Given the description of an element on the screen output the (x, y) to click on. 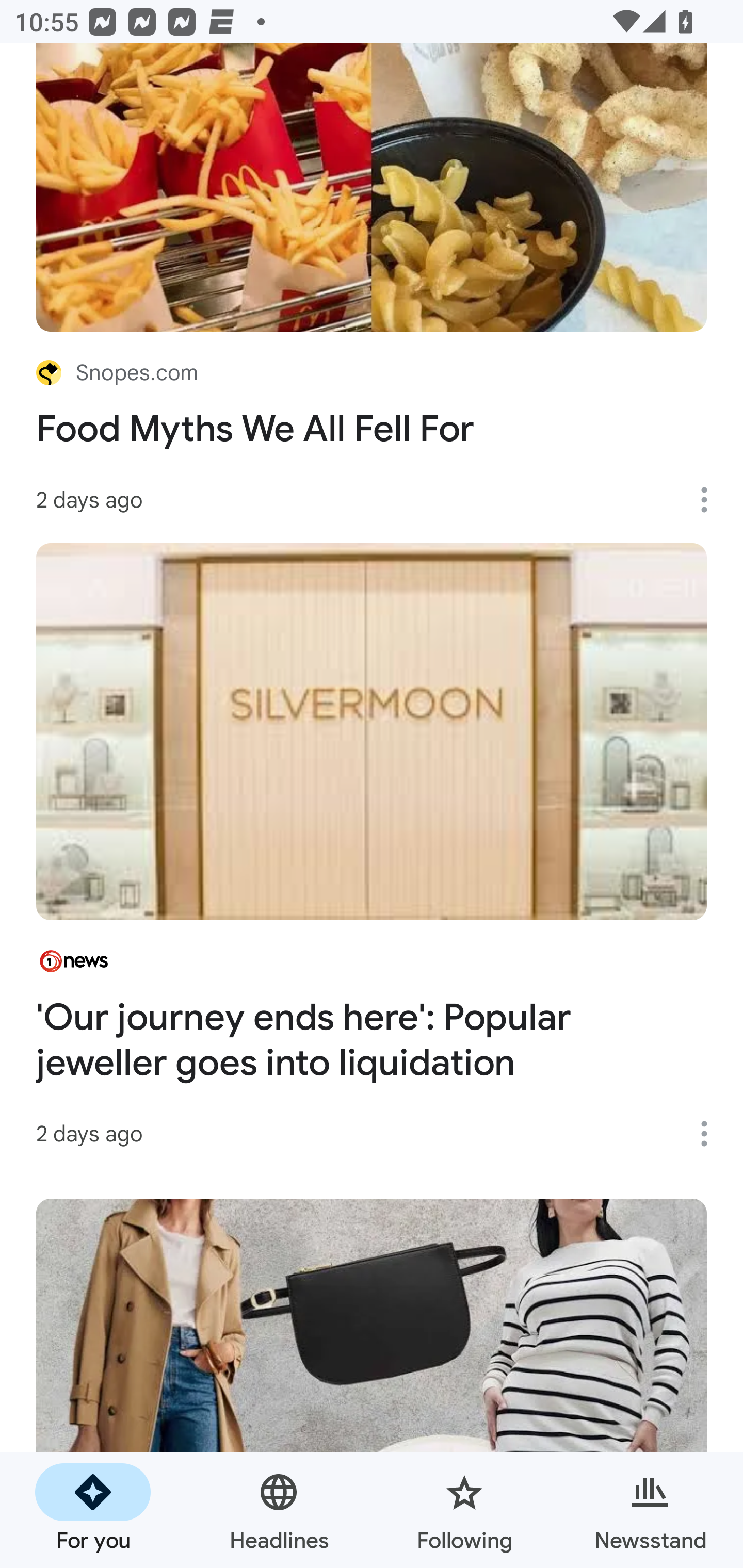
More options (711, 499)
More options (711, 1133)
For you (92, 1509)
Headlines (278, 1509)
Following (464, 1509)
Newsstand (650, 1509)
